Given the description of an element on the screen output the (x, y) to click on. 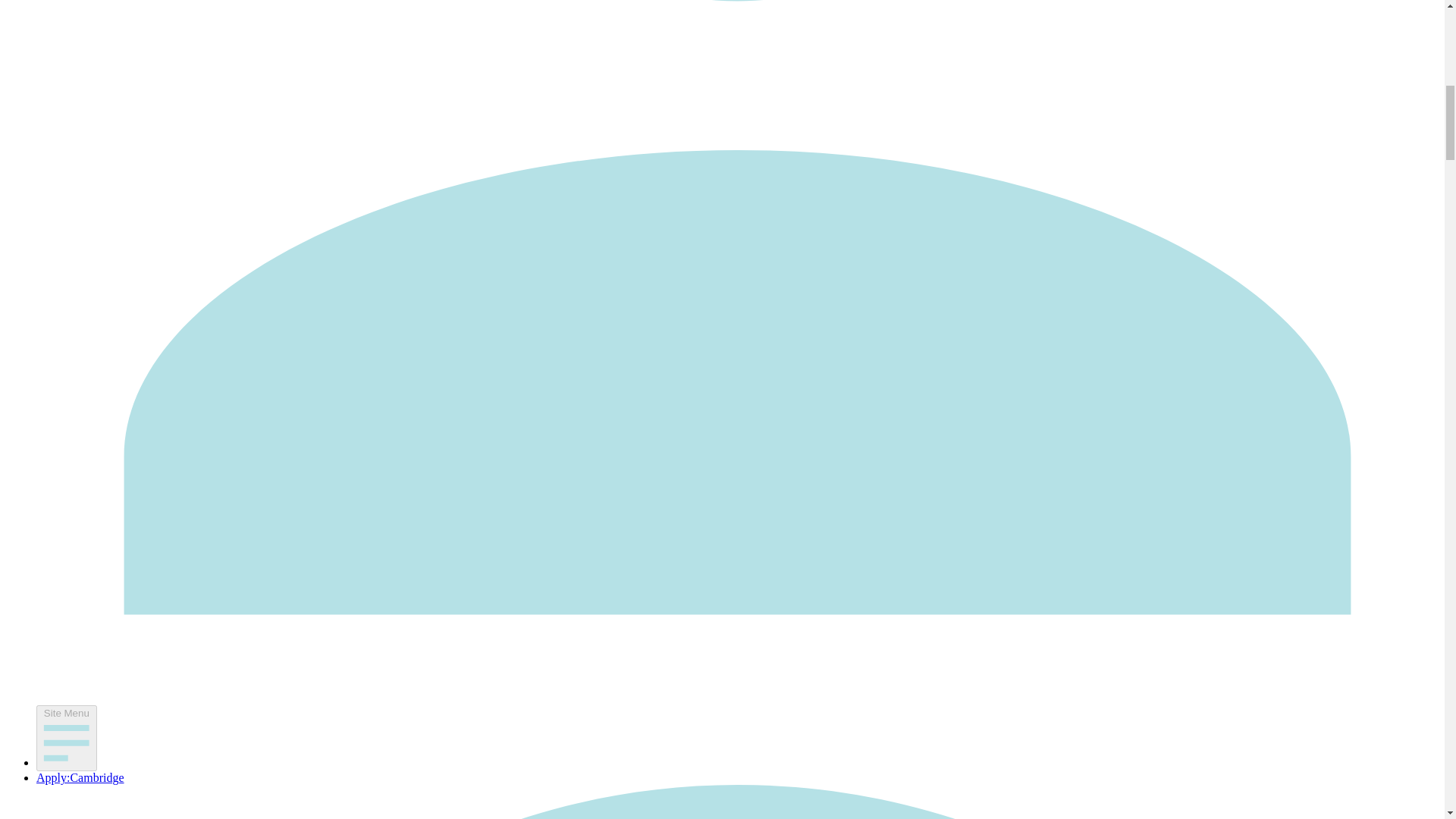
Site Menu (66, 738)
